Given the description of an element on the screen output the (x, y) to click on. 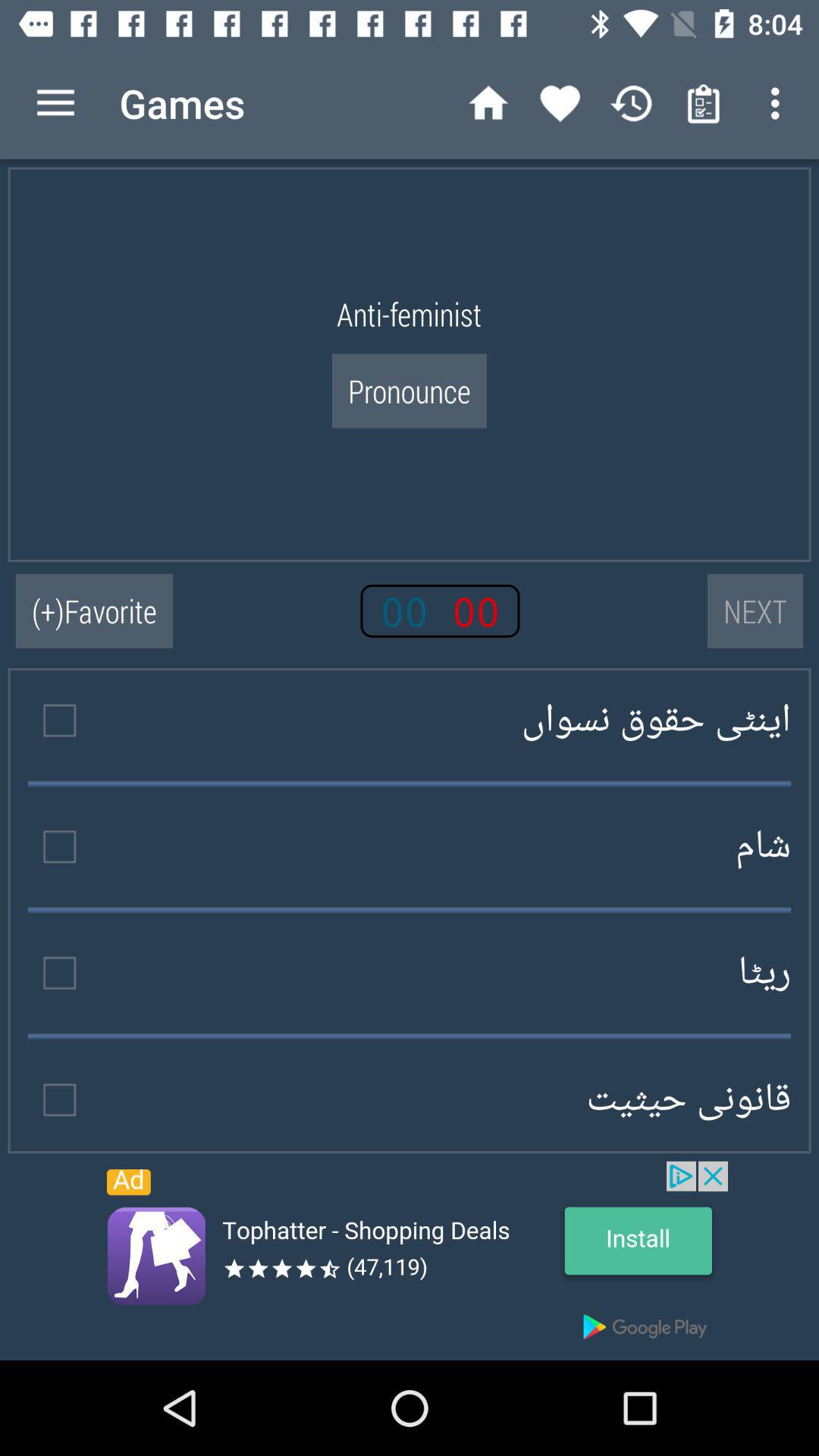
install tophatter (409, 1260)
